Given the description of an element on the screen output the (x, y) to click on. 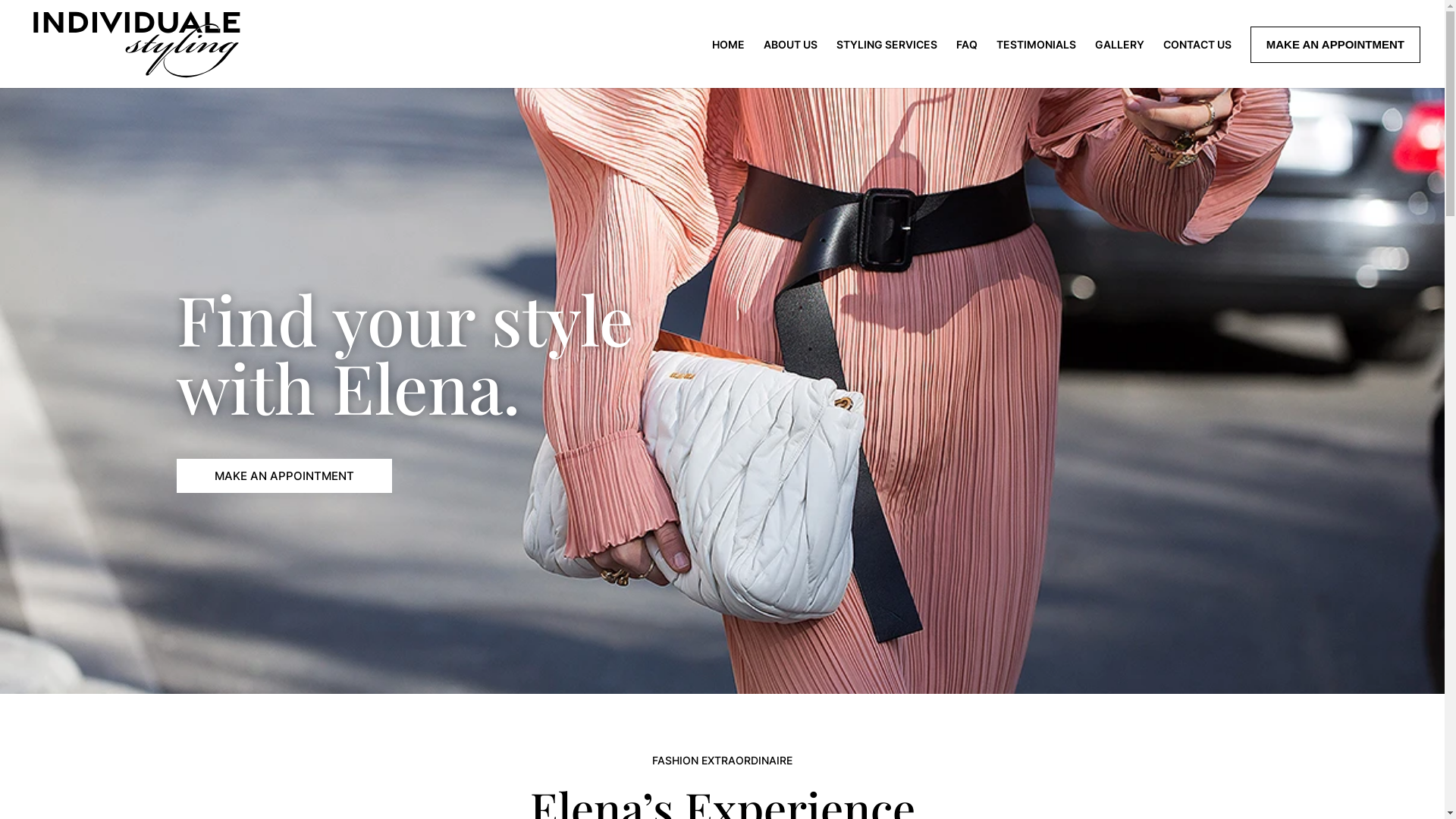
ABOUT US Element type: text (790, 61)
MAKE AN APPOINTMENT Element type: text (1335, 44)
FAQ Element type: text (966, 61)
HOME Element type: text (728, 61)
STYLING SERVICES Element type: text (886, 61)
TESTIMONIALS Element type: text (1036, 61)
MAKE AN APPOINTMENT Element type: text (283, 475)
CONTACT US Element type: text (1197, 61)
GALLERY Element type: text (1119, 61)
